Given the description of an element on the screen output the (x, y) to click on. 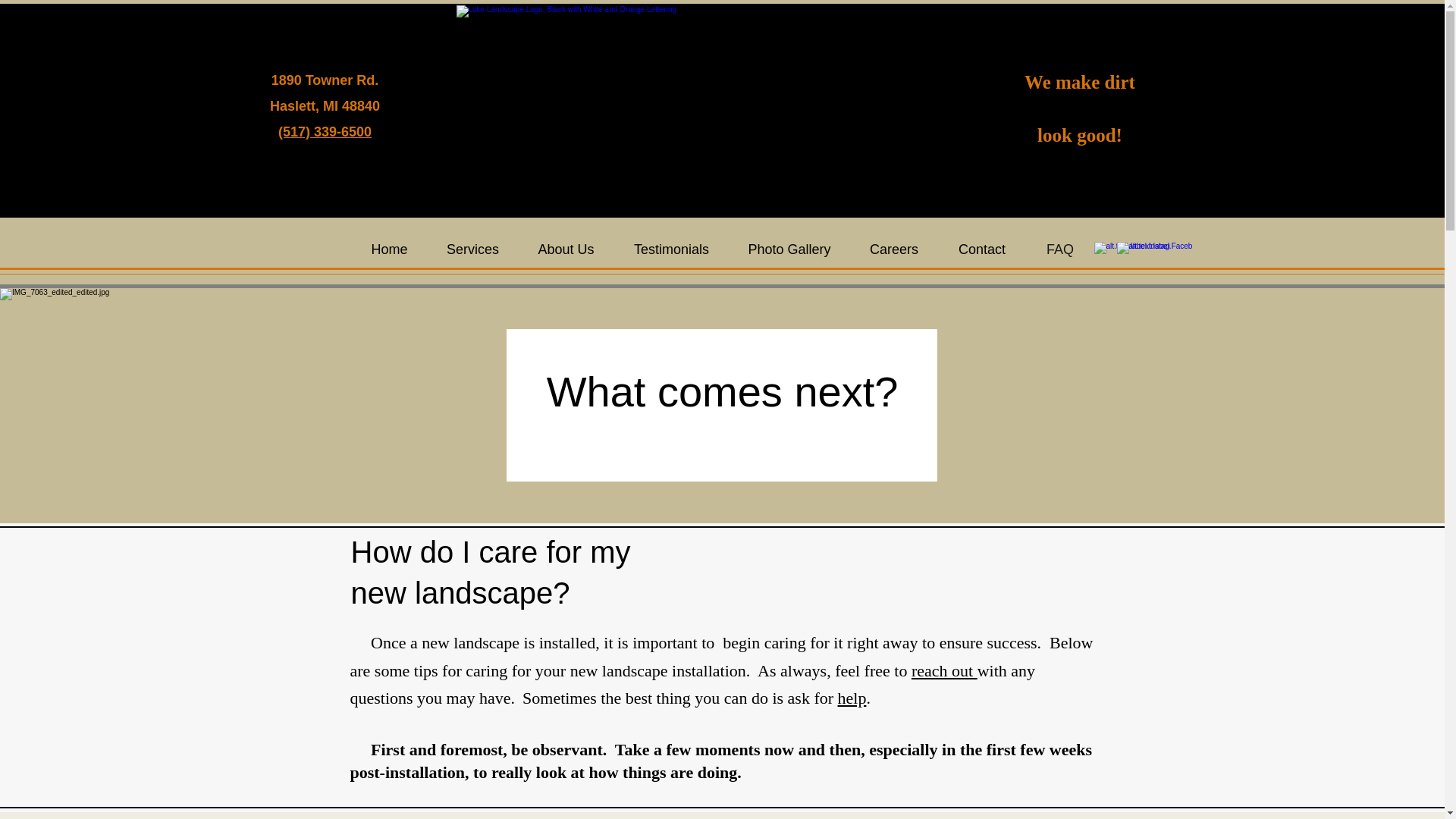
Contact (981, 249)
Careers (893, 249)
Services (472, 249)
help (852, 697)
About Us (565, 249)
FAQ (1060, 249)
Home (389, 249)
reach out (943, 670)
Photo Gallery (789, 249)
Testimonials (671, 249)
